Given the description of an element on the screen output the (x, y) to click on. 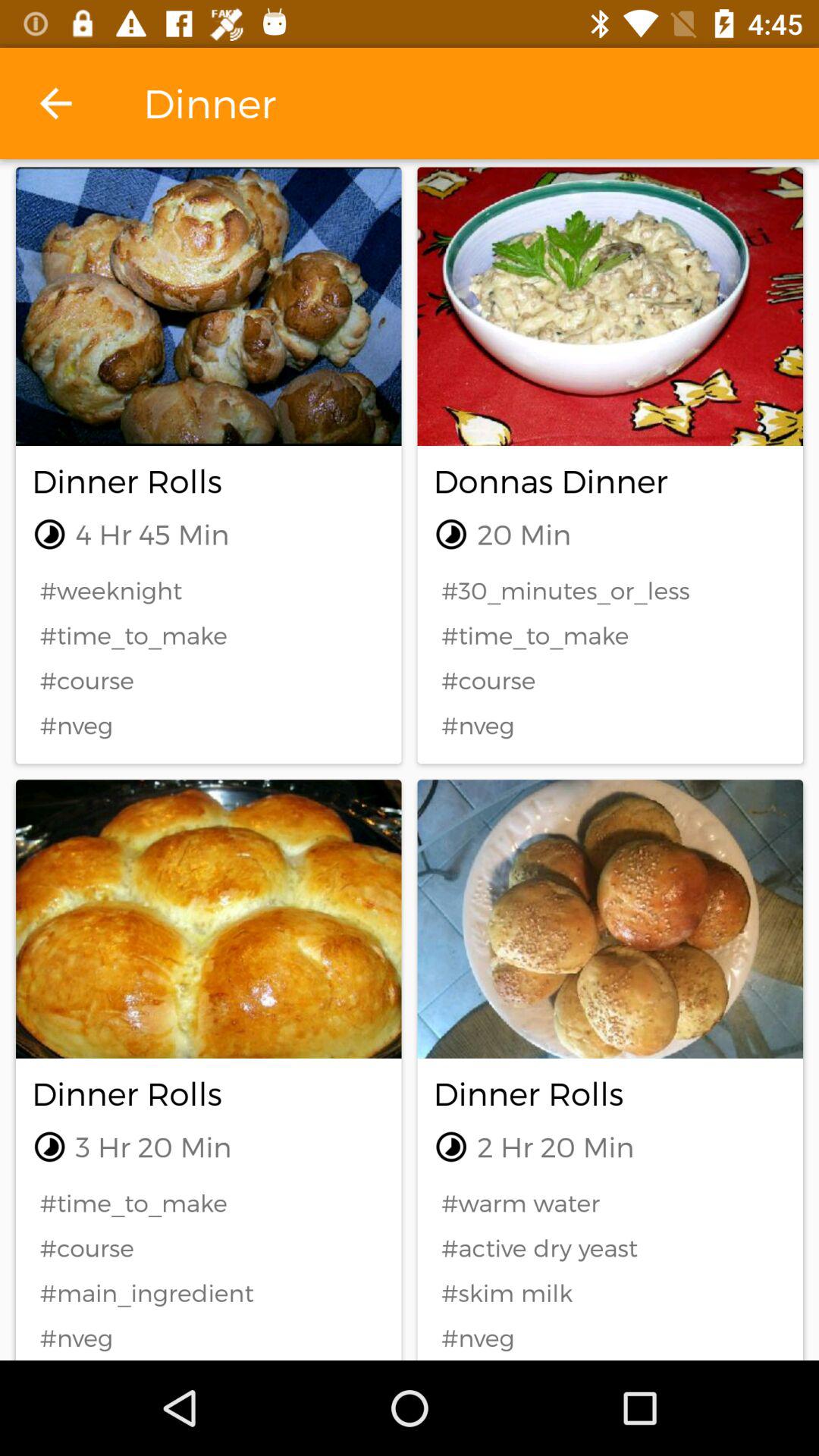
tap item above #time_to_make item (208, 590)
